Given the description of an element on the screen output the (x, y) to click on. 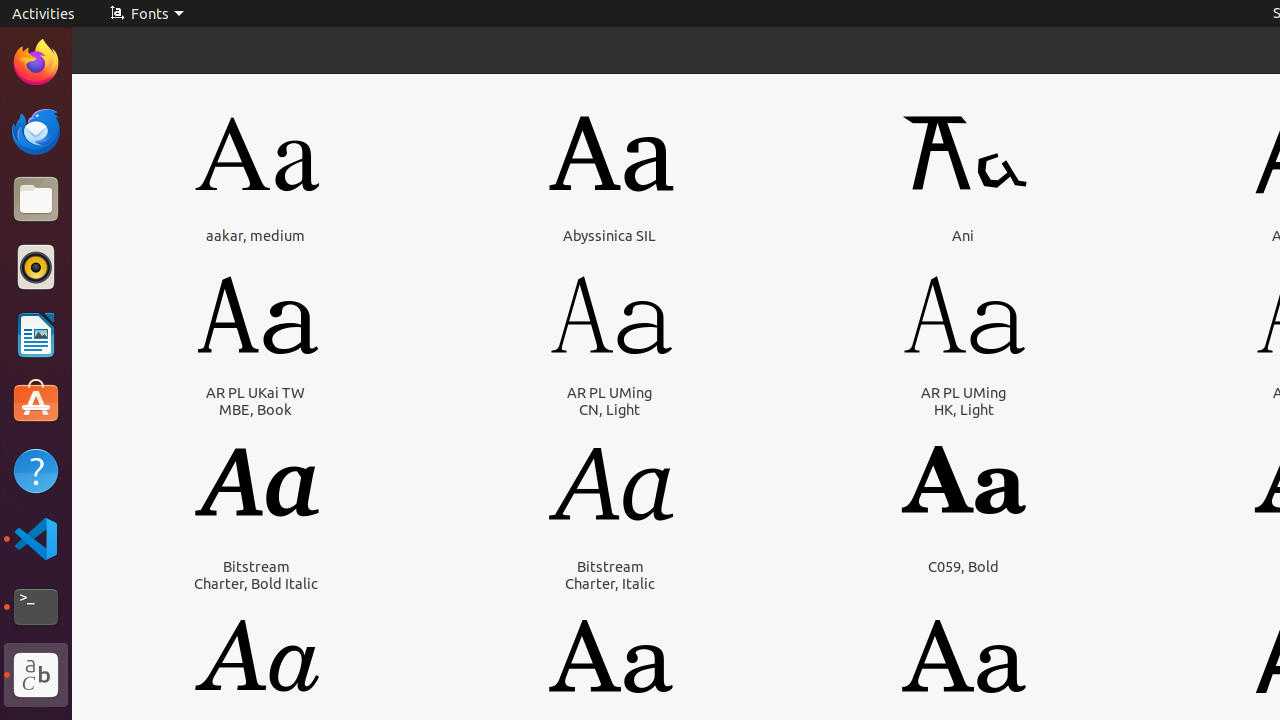
C059, Bold Element type: label (963, 566)
Fonts Element type: menu (146, 13)
